Given the description of an element on the screen output the (x, y) to click on. 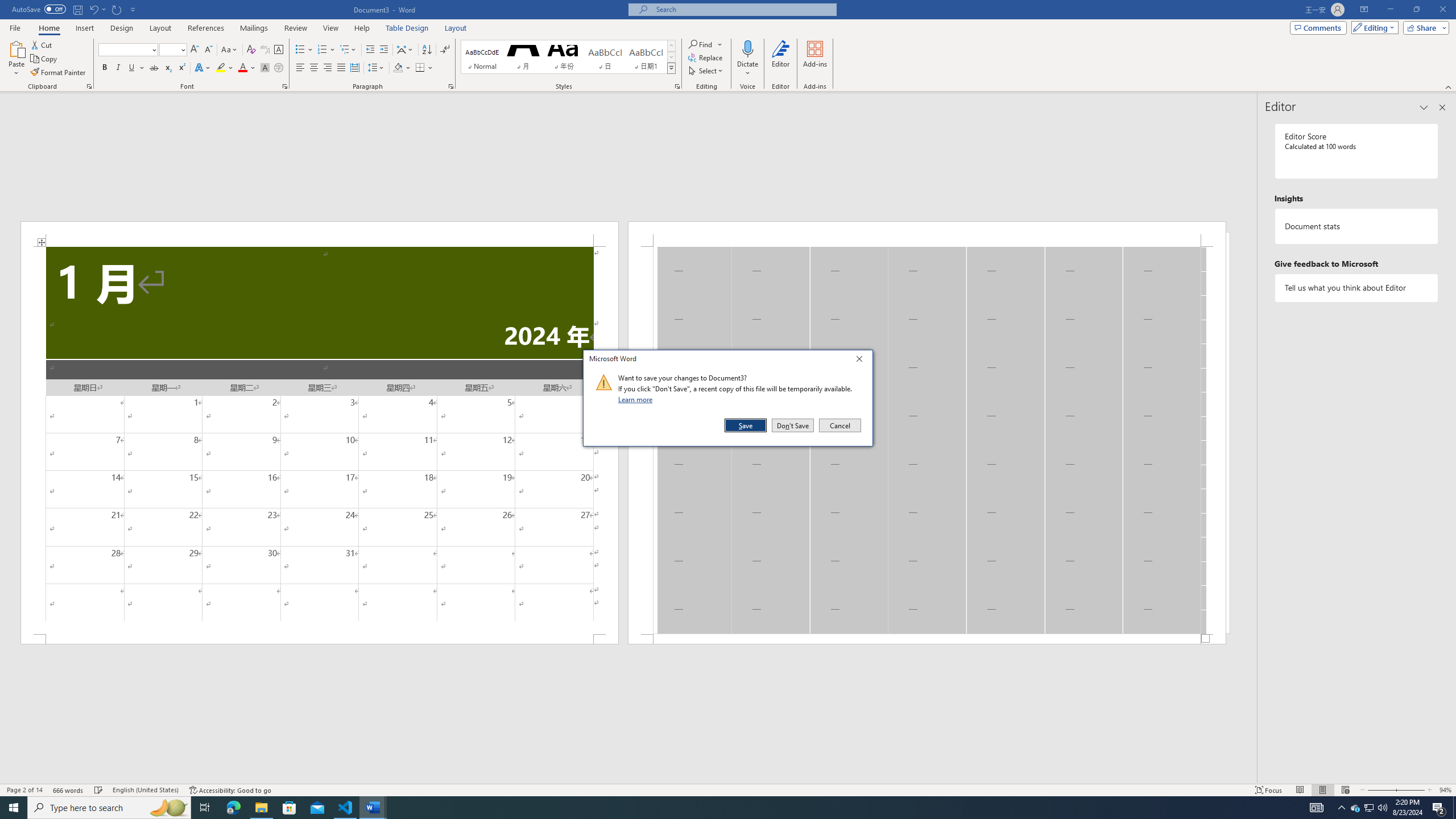
Bold (104, 67)
Format Painter (58, 72)
Paragraph... (450, 85)
Type here to search (108, 807)
Character Shading (264, 67)
Class: MsoCommandBar (728, 789)
Repeat Doc Close (117, 9)
Select (705, 69)
